Given the description of an element on the screen output the (x, y) to click on. 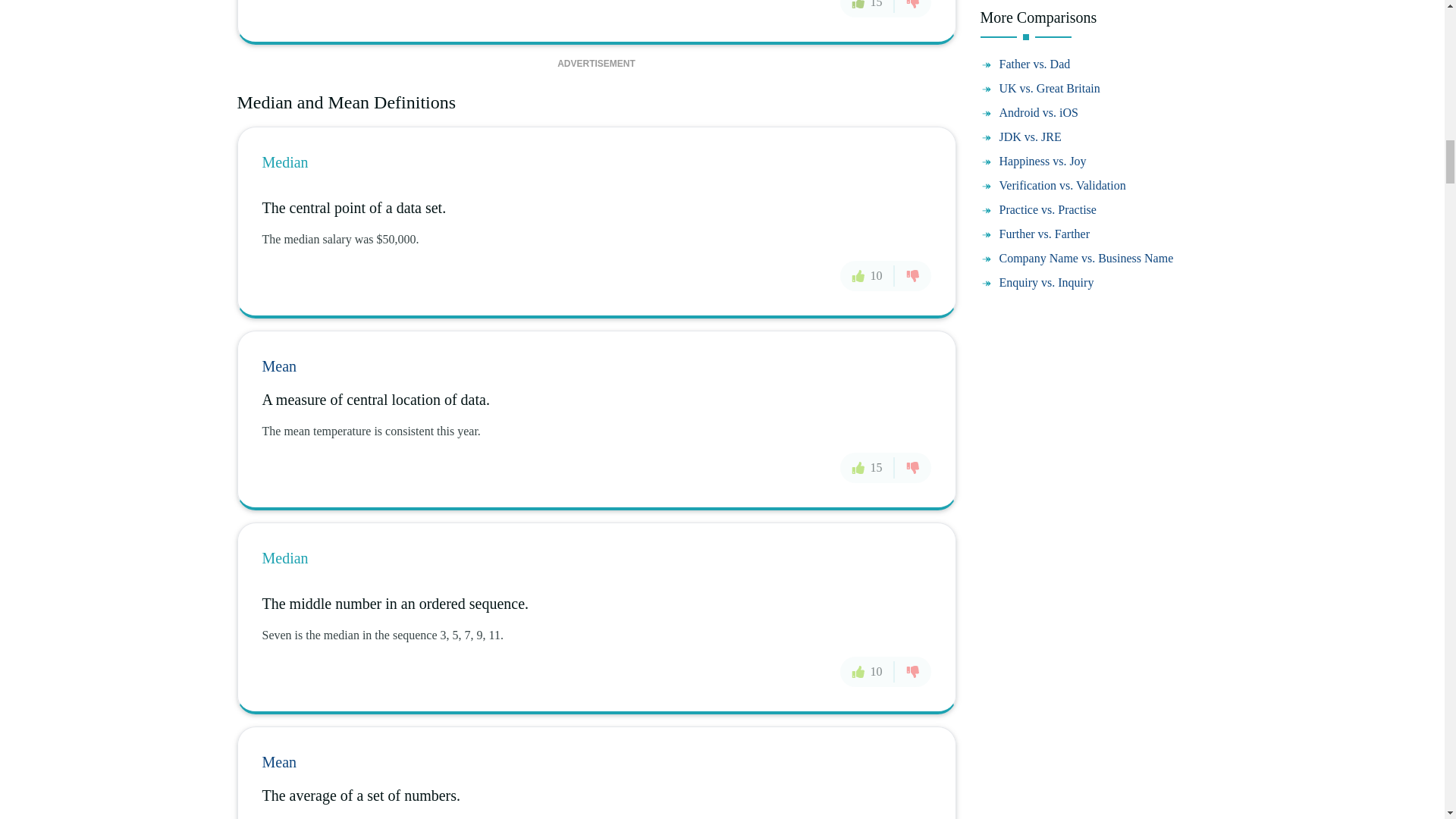
10 (867, 671)
15 (867, 8)
10 (867, 276)
15 (867, 467)
